Given the description of an element on the screen output the (x, y) to click on. 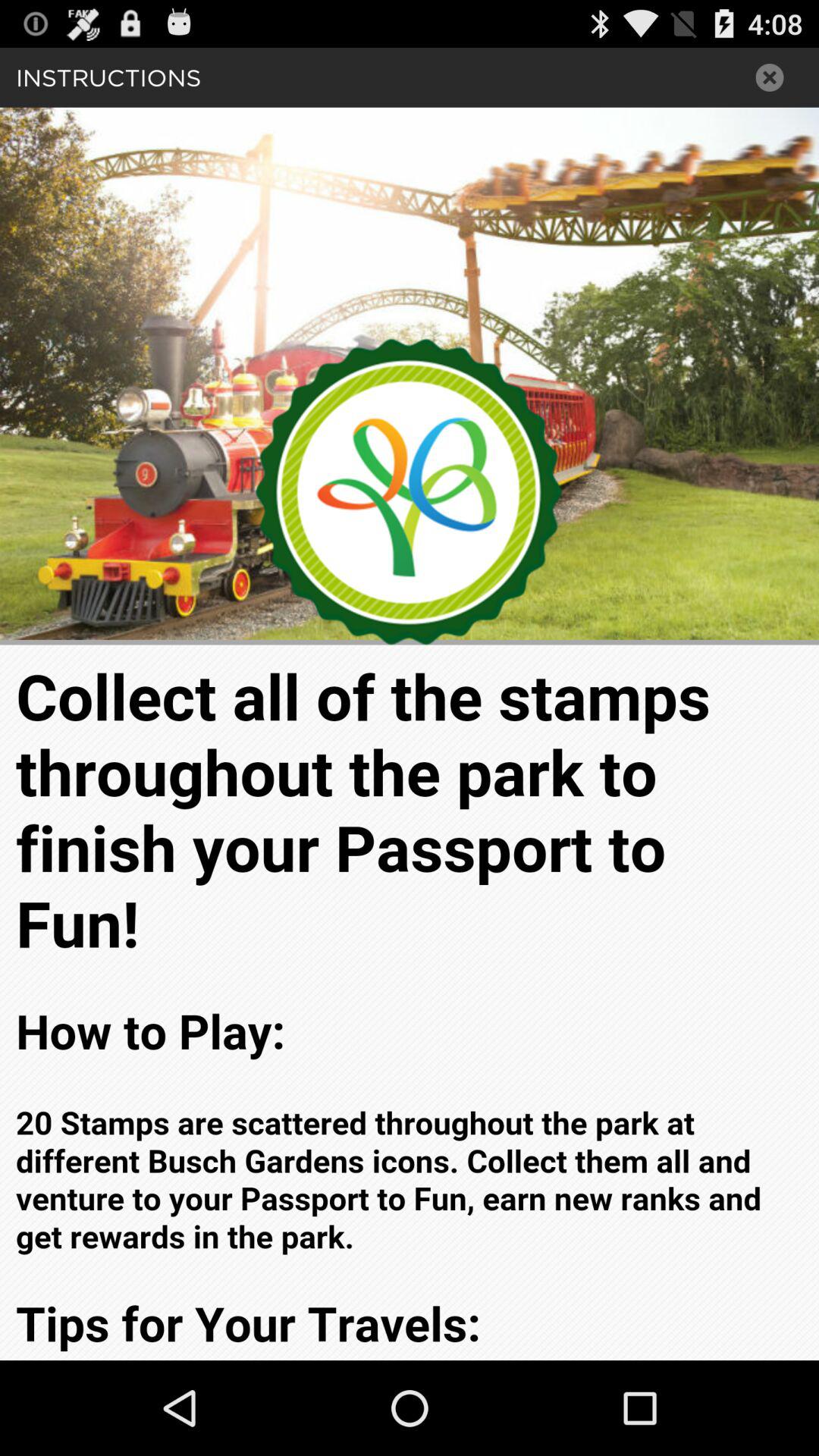
close page (770, 77)
